Given the description of an element on the screen output the (x, y) to click on. 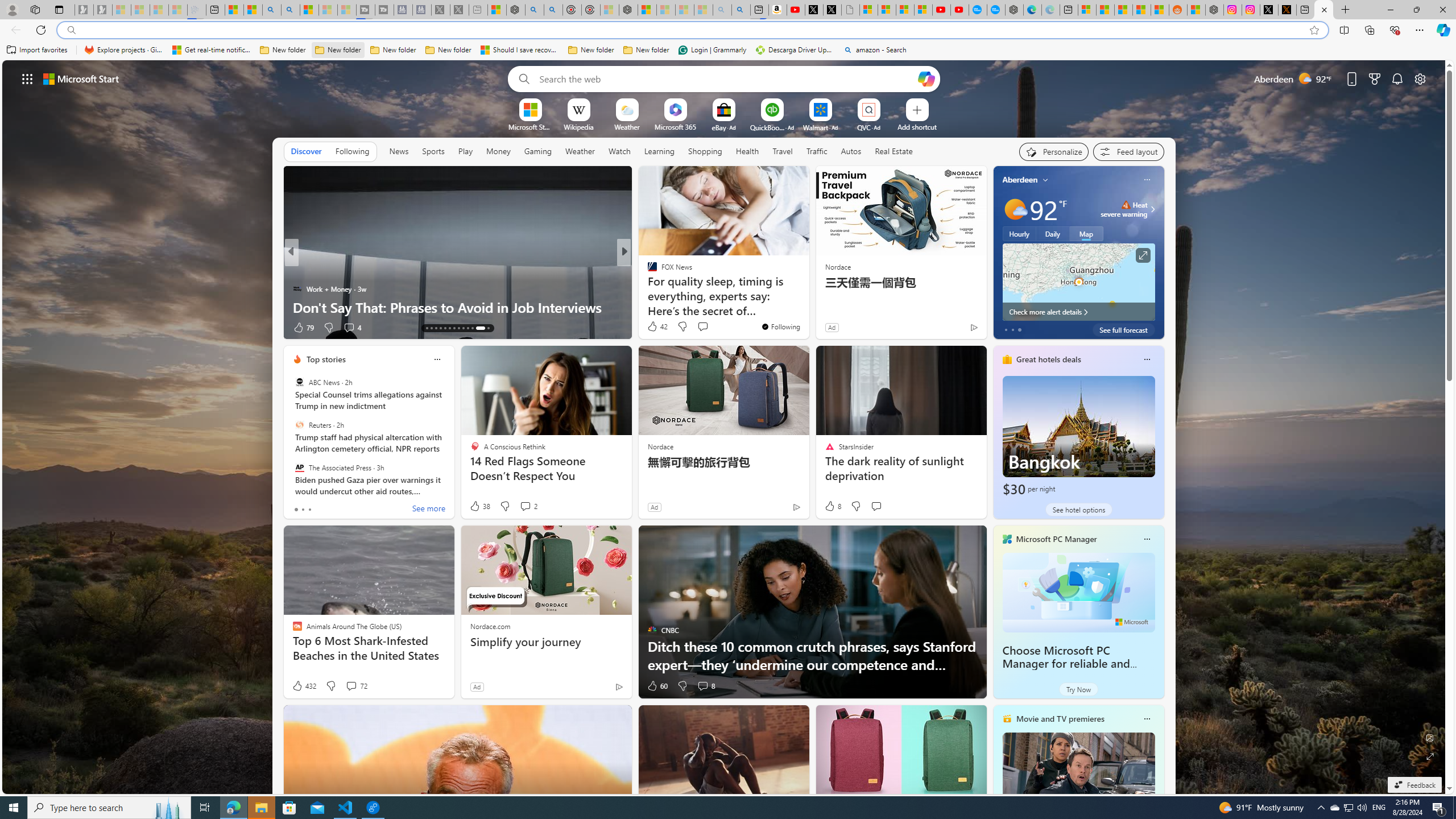
38 Like (479, 505)
Map (1085, 233)
The Associated Press (299, 466)
AutomationID: tab-23 (472, 328)
Search icon (70, 29)
Nordace.com (490, 625)
15 Behaviors You MUST Avoid If You Want to Earn Respect (807, 298)
Autos (851, 151)
